Given the description of an element on the screen output the (x, y) to click on. 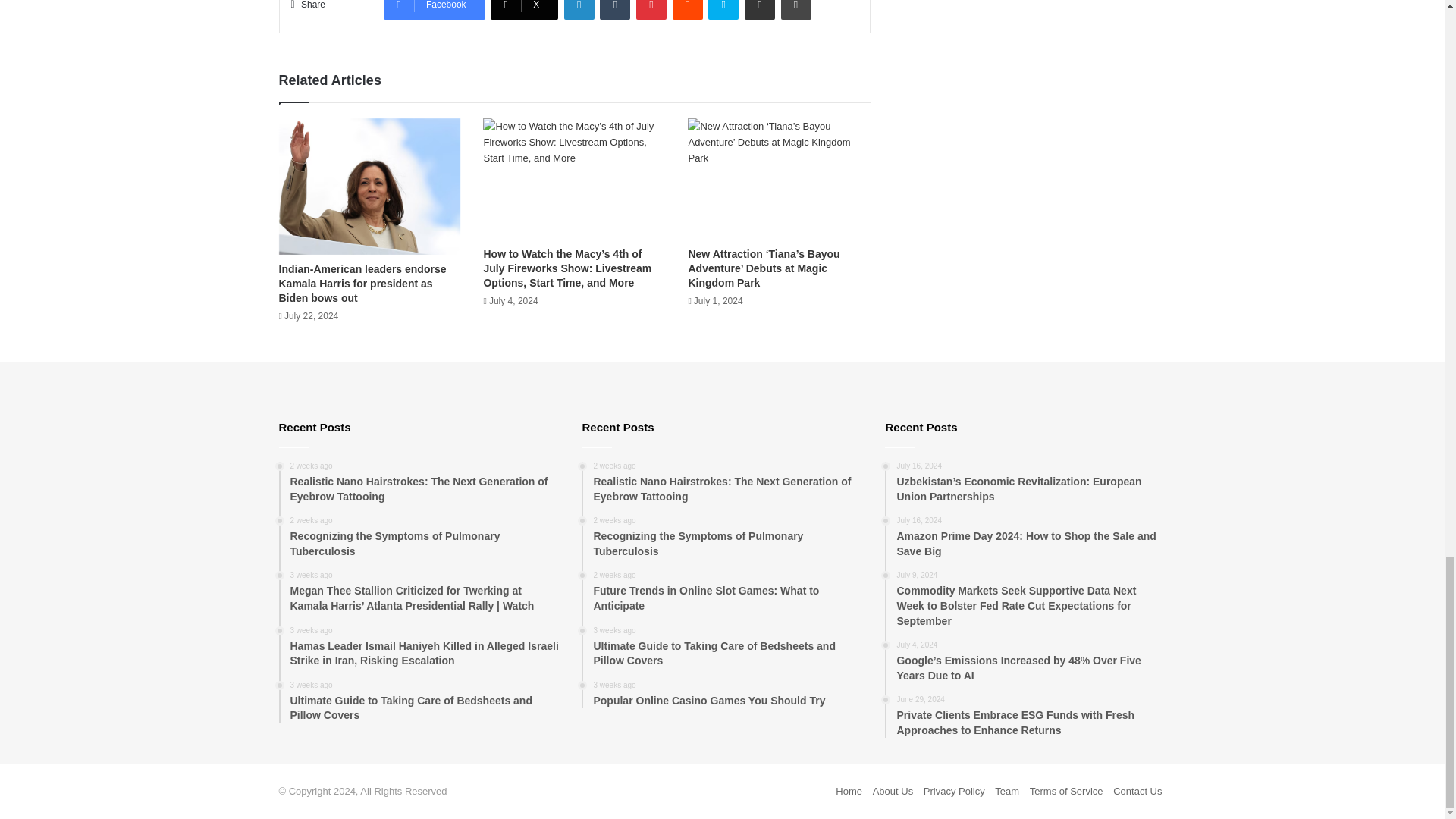
Pinterest (651, 9)
Skype (722, 9)
Tumblr (614, 9)
Reddit (687, 9)
LinkedIn (579, 9)
Skype (722, 9)
LinkedIn (579, 9)
X (523, 9)
Tumblr (614, 9)
